Given the description of an element on the screen output the (x, y) to click on. 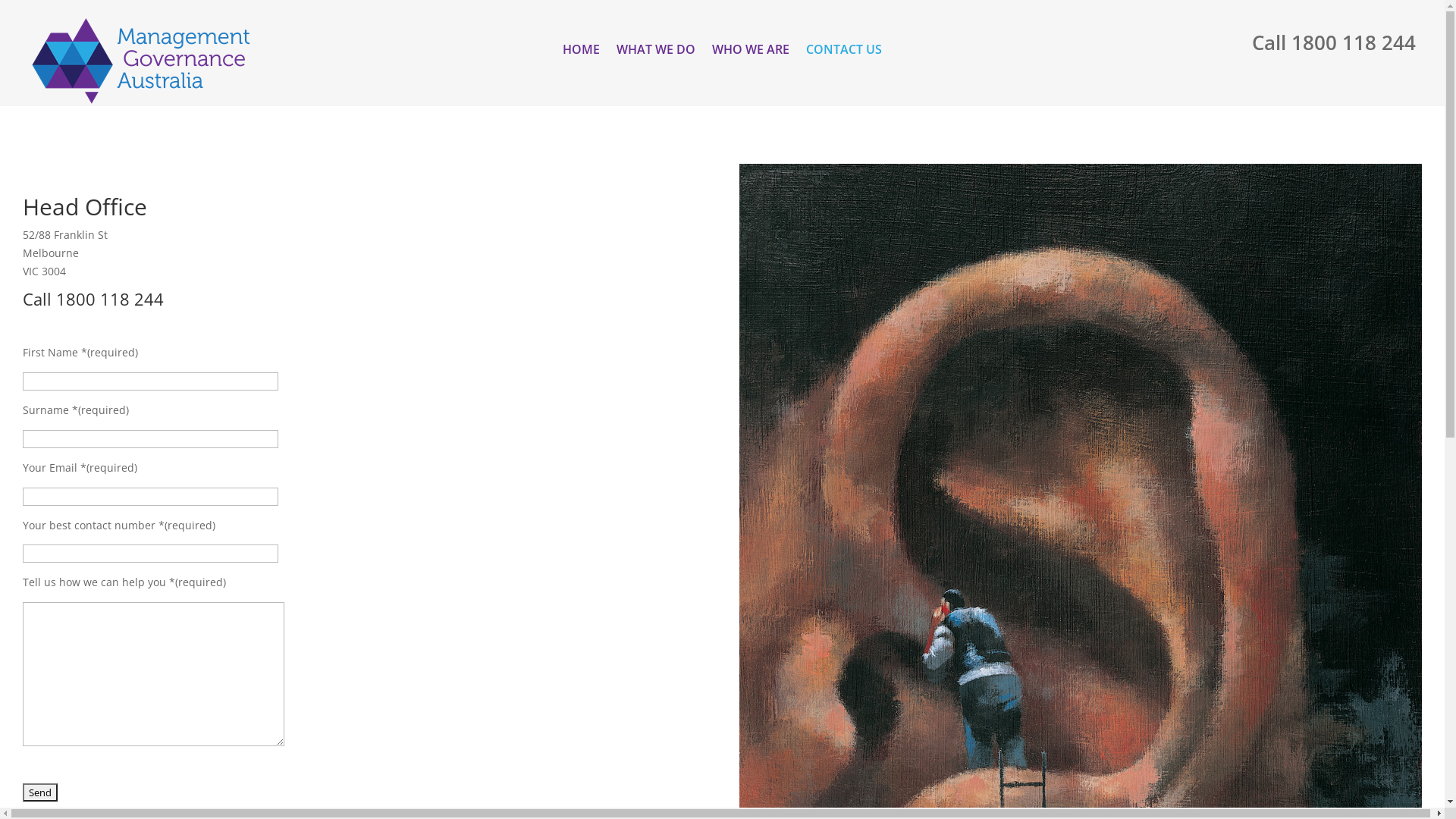
CONTACT US Element type: text (843, 51)
HOME Element type: text (580, 51)
WHO WE ARE Element type: text (750, 51)
MGALogo Element type: hover (140, 60)
WHAT WE DO Element type: text (655, 51)
Send Element type: text (39, 792)
